Given the description of an element on the screen output the (x, y) to click on. 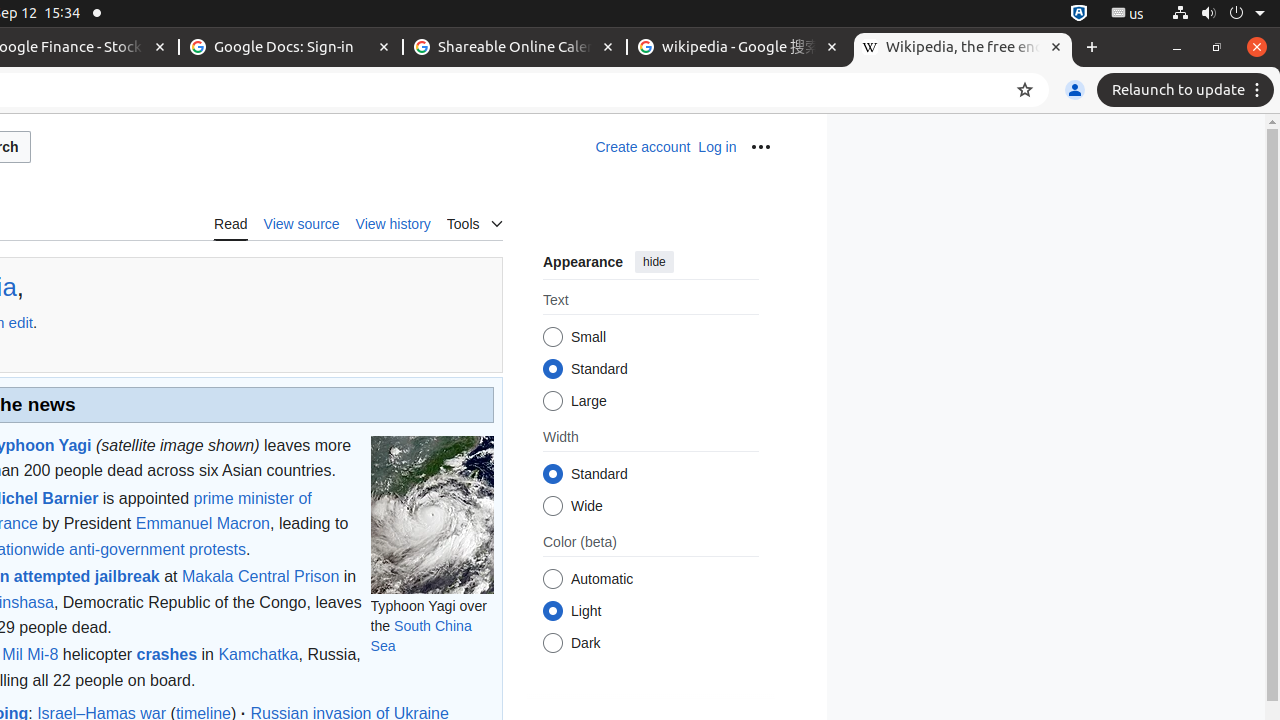
Mil Mi-8 Element type: link (30, 655)
Relaunch to update Element type: push-button (1188, 90)
View source Element type: link (301, 223)
Light Element type: radio-button (552, 611)
:1.21/StatusNotifierItem Element type: menu (1127, 13)
